Given the description of an element on the screen output the (x, y) to click on. 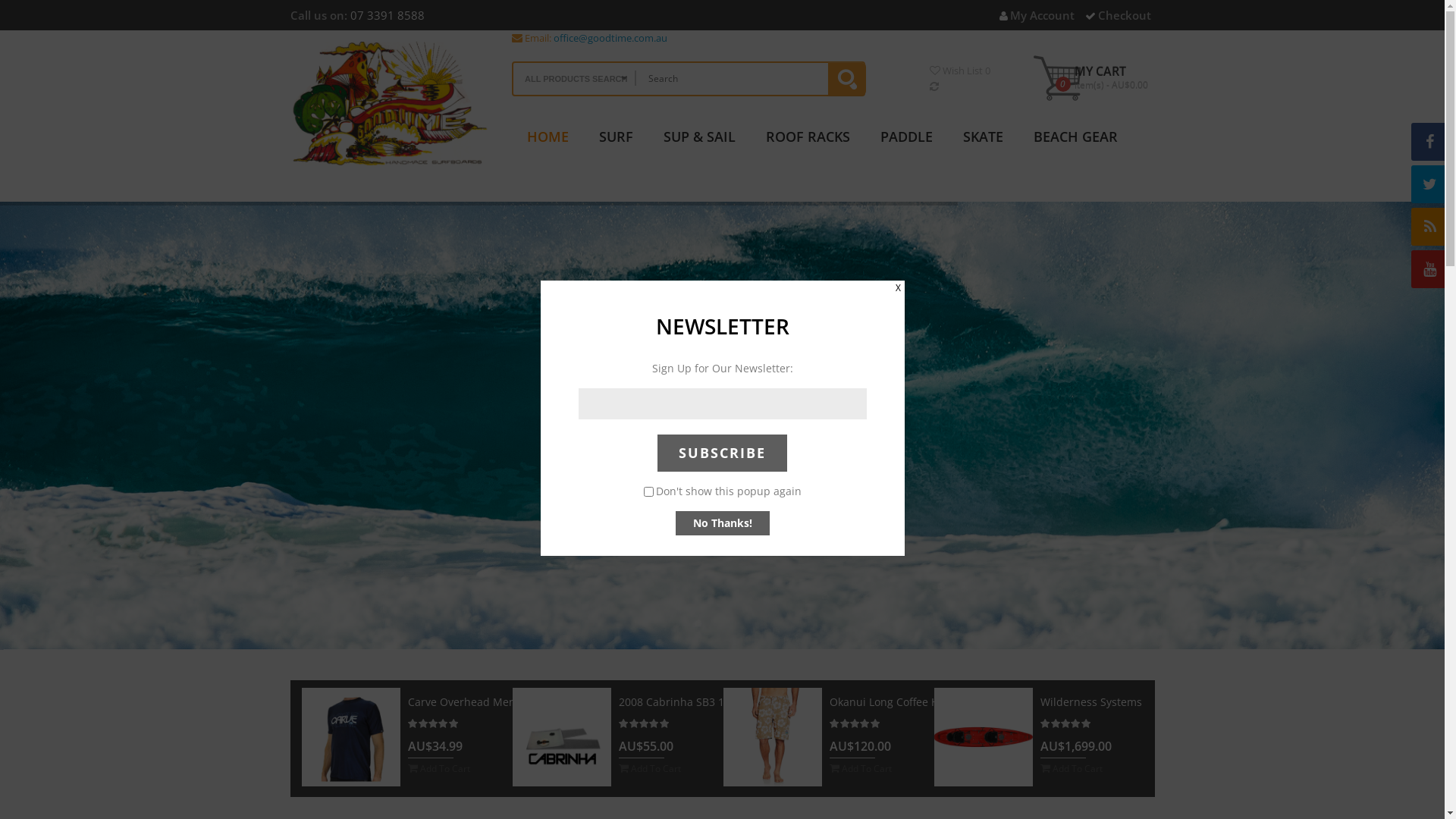
Carve Overhead Mens S/S Rashie Element type: hover (350, 736)
No Thanks! Element type: text (721, 523)
Add To Cart Element type: text (438, 767)
MY CART
0
item(s) - AU$0.00 Element type: text (1091, 77)
Wilderness Systems Tarpon 135T SOT Element type: hover (983, 736)
Wish List 0 Element type: text (959, 70)
Checkout Element type: text (1117, 14)
office@goodtime.com.au Element type: text (610, 37)
2008 Cabrinha SB3 14m L' Edge Bladder Element type: text (720, 701)
SUBSCRIBE Element type: text (722, 452)
SURF Element type: text (615, 143)
HOME Element type: text (547, 143)
SKATE Element type: text (982, 143)
2008 Cabrinha SB3 14m L' Edge Bladder Element type: hover (561, 736)
Add To Cart Element type: text (860, 767)
Add To Cart Element type: text (649, 767)
Okanui Long Coffee Hibiscus Element type: hover (772, 736)
Call us on: Element type: text (317, 14)
Okanui Long Coffee Hibiscus Element type: text (901, 701)
Add To Cart Element type: text (1071, 767)
My Account Element type: text (1036, 14)
Carve Overhead Mens S/S Rashie Element type: text (492, 701)
Wilderness Systems Tarpon 135T SOT Element type: text (1136, 701)
GoodTime Est 1971 Element type: hover (389, 103)
BEACH GEAR Element type: text (1075, 143)
PADDLE Element type: text (906, 143)
SUP & SAIL Element type: text (699, 143)
ROOF RACKS Element type: text (807, 143)
